Given the description of an element on the screen output the (x, y) to click on. 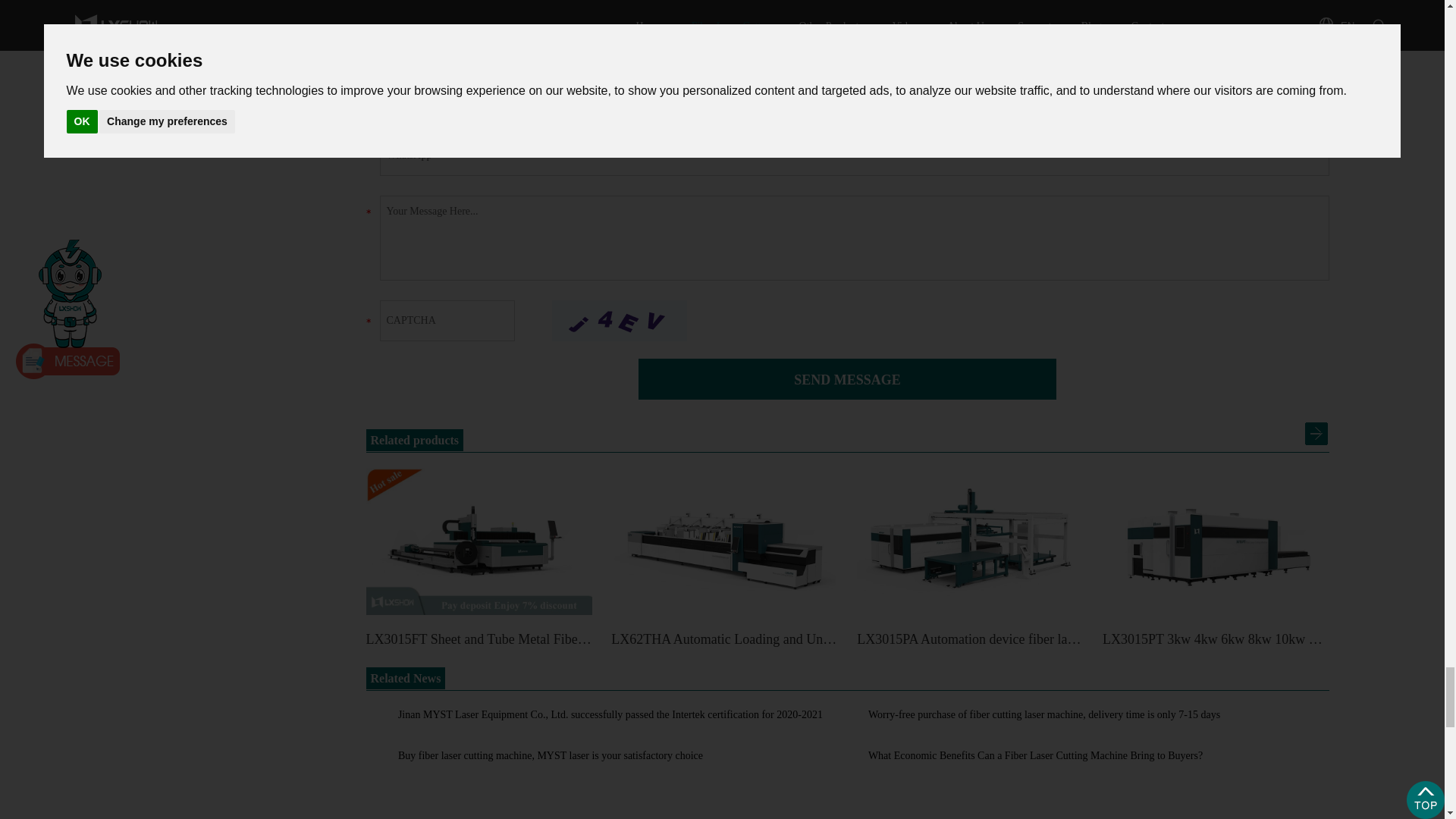
SEND MESSAGE (848, 378)
